Given the description of an element on the screen output the (x, y) to click on. 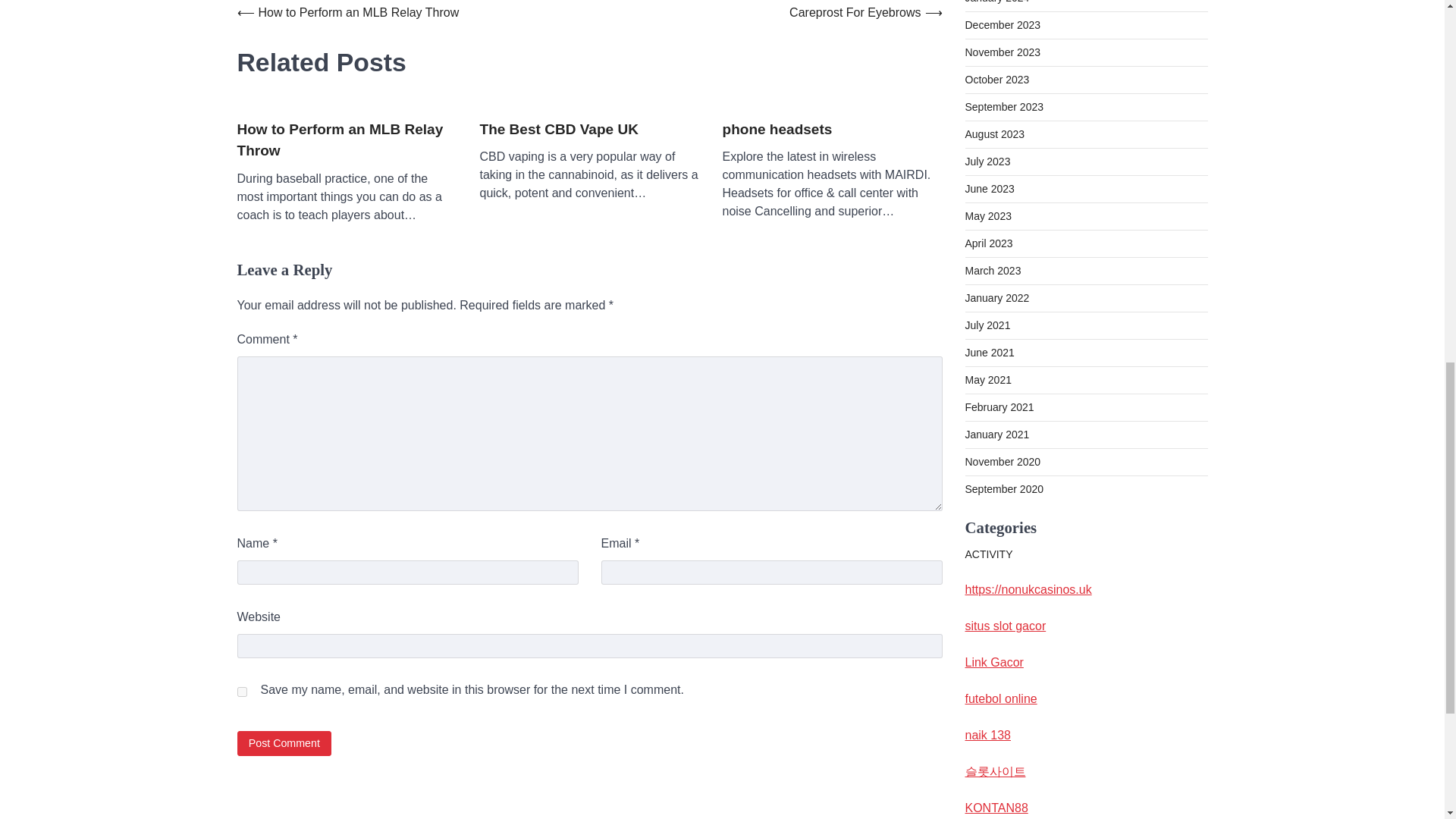
Post Comment (283, 743)
January 2024 (996, 2)
November 2023 (1002, 51)
The Best CBD Vape UK (558, 129)
How to Perform an MLB Relay Throw (346, 140)
September 2023 (1003, 106)
December 2023 (1002, 24)
October 2023 (996, 79)
Post Comment (283, 743)
phone headsets (776, 129)
